Given the description of an element on the screen output the (x, y) to click on. 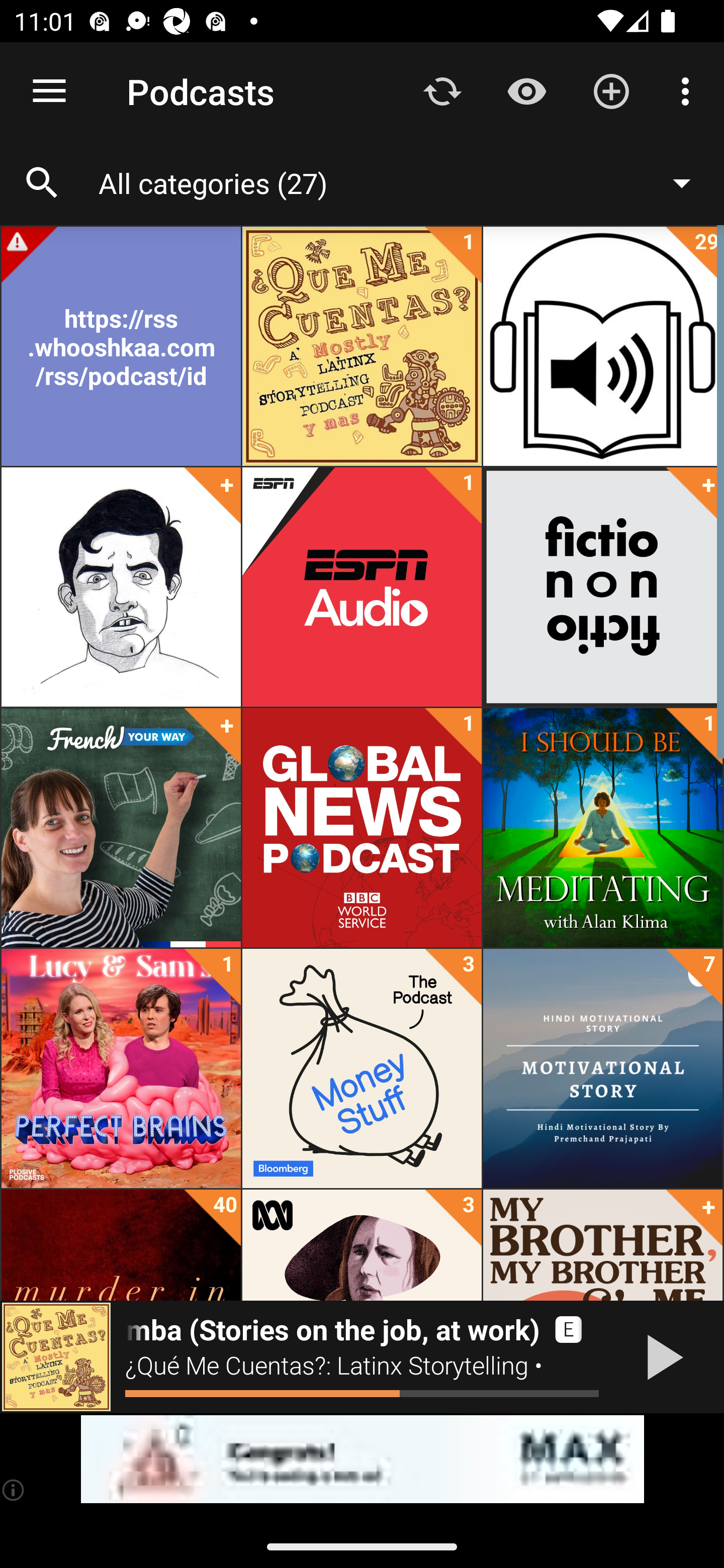
Open navigation sidebar (49, 91)
Update (442, 90)
Show / Hide played content (526, 90)
Add new Podcast (611, 90)
More options (688, 90)
Search (42, 183)
All categories (27) (404, 182)
https://rss.whooshkaa.com/rss/podcast/id/5884 (121, 346)
¿Qué Me Cuentas?: Latinx Storytelling 1 (361, 346)
Audiobooks 29 (602, 346)
Cooking Issues with Dave Arnold + (121, 587)
ESPN Audio 1 (361, 587)
fiction/non/fiction + (602, 587)
Global News Podcast 1 (361, 827)
Lucy & Sam's Perfect Brains 1 (121, 1068)
Money Stuff: The Podcast 3 (361, 1068)
Play / Pause (660, 1356)
app-monetization (362, 1459)
(i) (14, 1489)
